Given the description of an element on the screen output the (x, y) to click on. 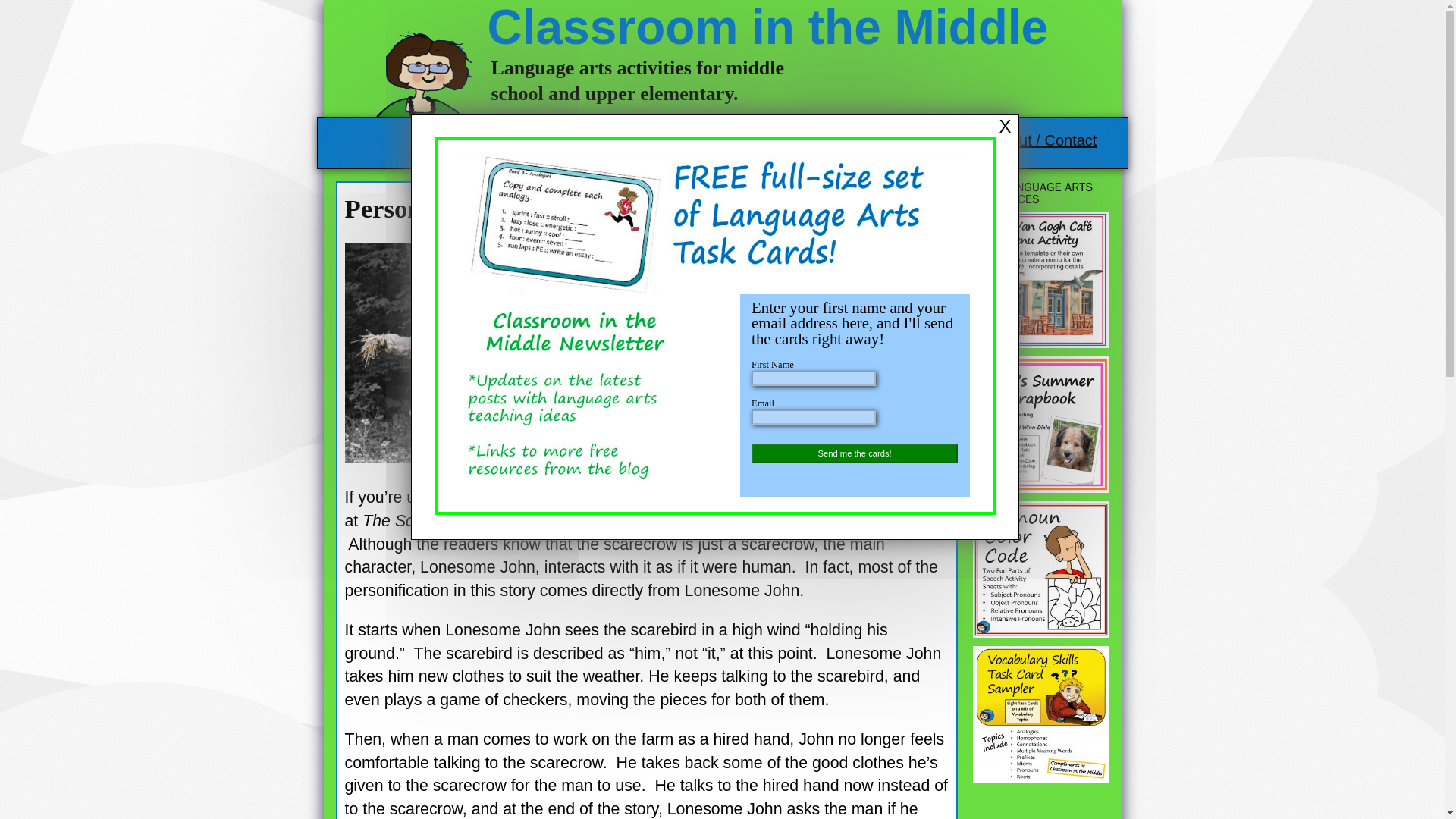
Classroom in the Middle (767, 27)
Send me the cards! (854, 453)
Classroom in the Middle (767, 27)
Send me the cards! (50, 7)
